Given the description of an element on the screen output the (x, y) to click on. 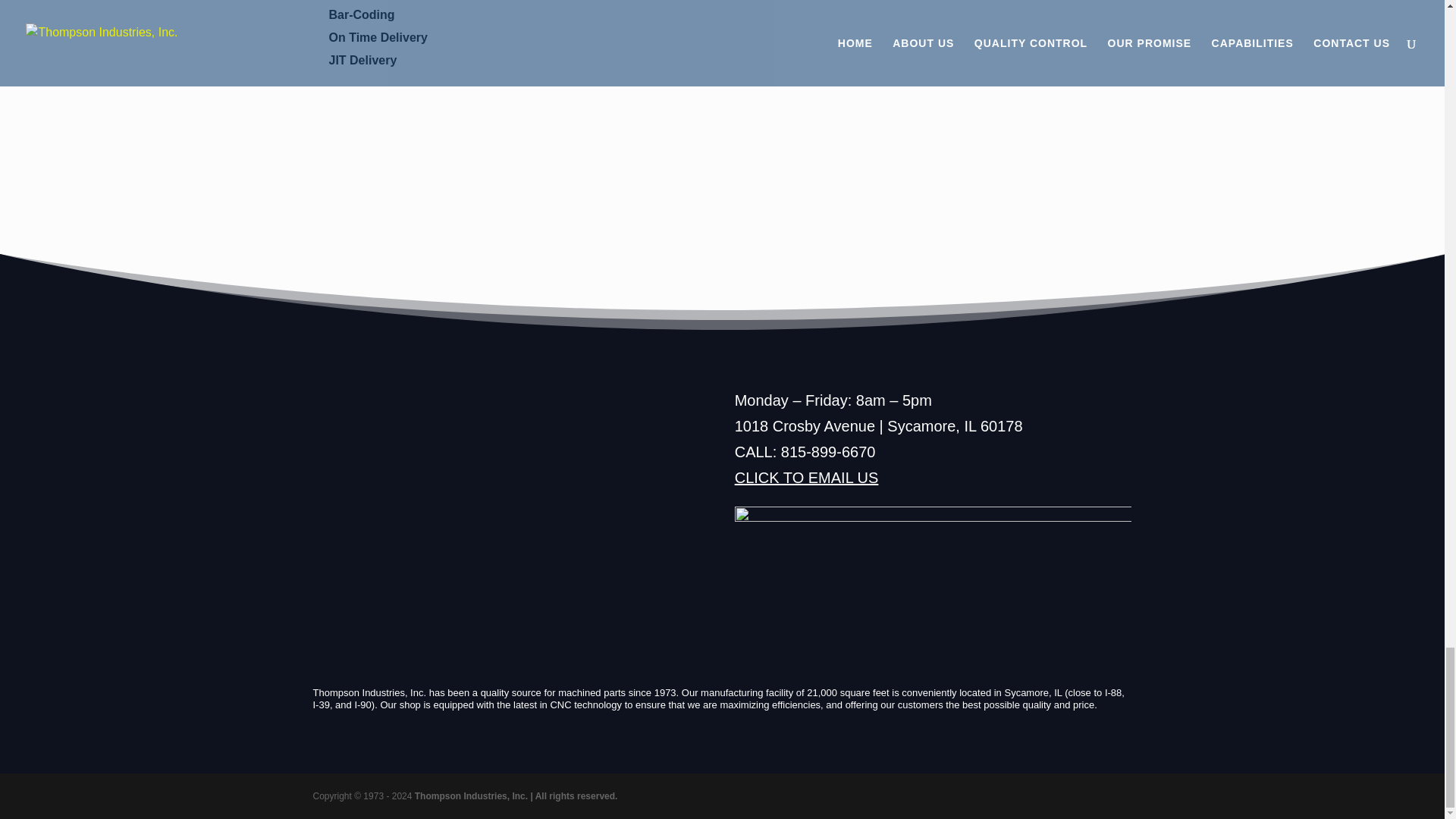
1018 Crosby Avenue (805, 425)
Sycamore, IL 60178 (954, 425)
CLICK TO EMAIL US (807, 477)
CALL: 815-899-6670 (805, 451)
